Given the description of an element on the screen output the (x, y) to click on. 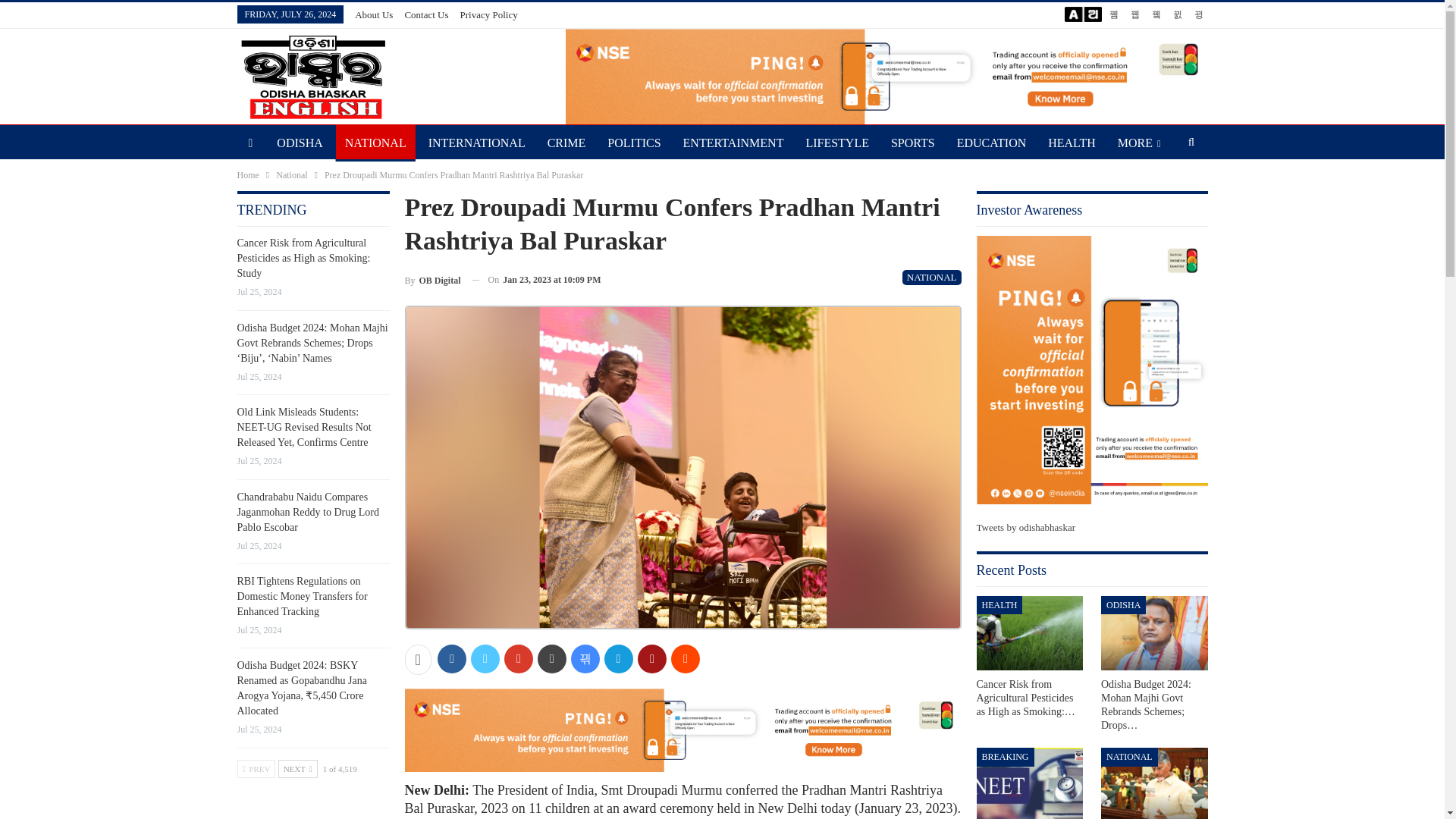
NATIONAL (931, 277)
Home (247, 175)
National (291, 175)
MORE (1139, 143)
NATIONAL (375, 143)
HEALTH (1072, 143)
LIFESTYLE (836, 143)
Browse Author Articles (432, 280)
ODISHA (299, 143)
About Us (374, 14)
Contact Us (426, 14)
Privacy Policy (489, 14)
INTERNATIONAL (476, 143)
CRIME (566, 143)
SPORTS (912, 143)
